Given the description of an element on the screen output the (x, y) to click on. 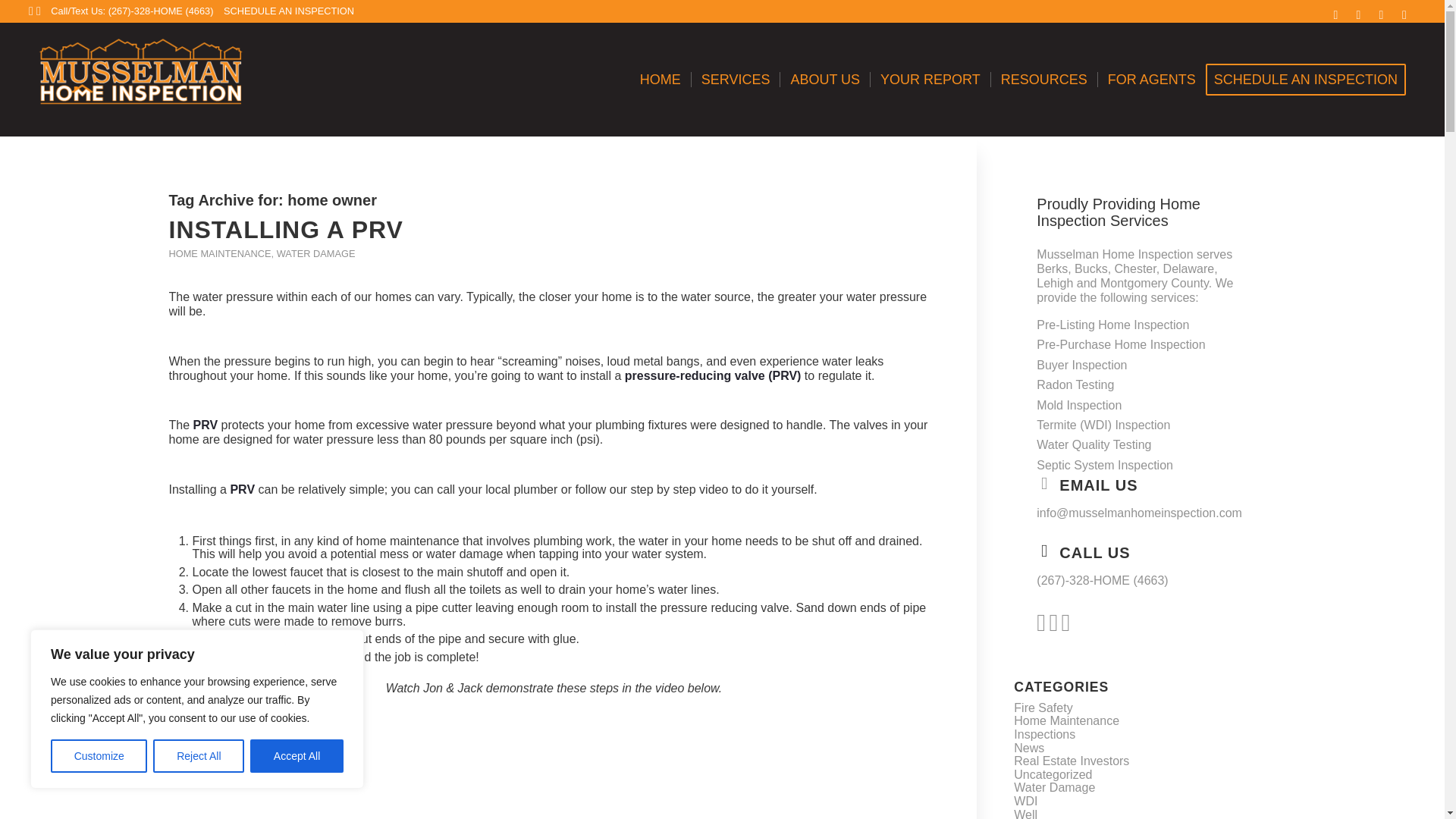
Reject All (198, 756)
Customize (98, 756)
Accept All (296, 756)
YOUR REPORT (929, 79)
Instagram (1404, 15)
How to install a Pressure Reducing Valve (553, 762)
Google (1335, 15)
RESOURCES (1043, 79)
Youtube (1380, 15)
SCHEDULE AN INSPECTION (288, 10)
Permanent Link: Installing a PRV (285, 229)
Facebook (1359, 15)
FOR AGENTS (1151, 79)
